Given the description of an element on the screen output the (x, y) to click on. 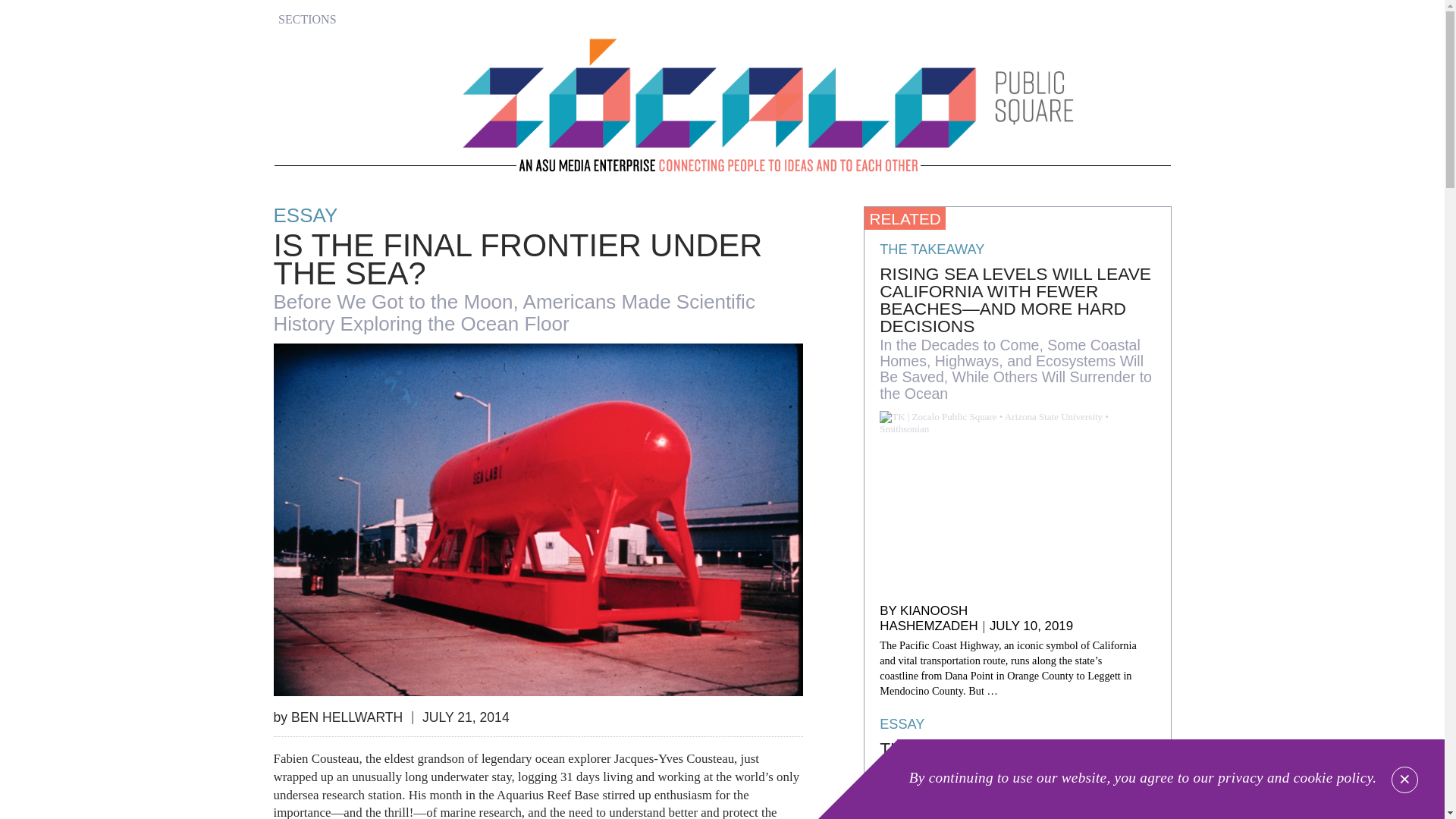
IDEAS (318, 85)
The Ocean Vs. California (1016, 748)
SECTIONS (318, 19)
EXPLORATIONS (318, 185)
VIEWINGS (318, 152)
About (318, 252)
CHRONICLES (318, 119)
